Given the description of an element on the screen output the (x, y) to click on. 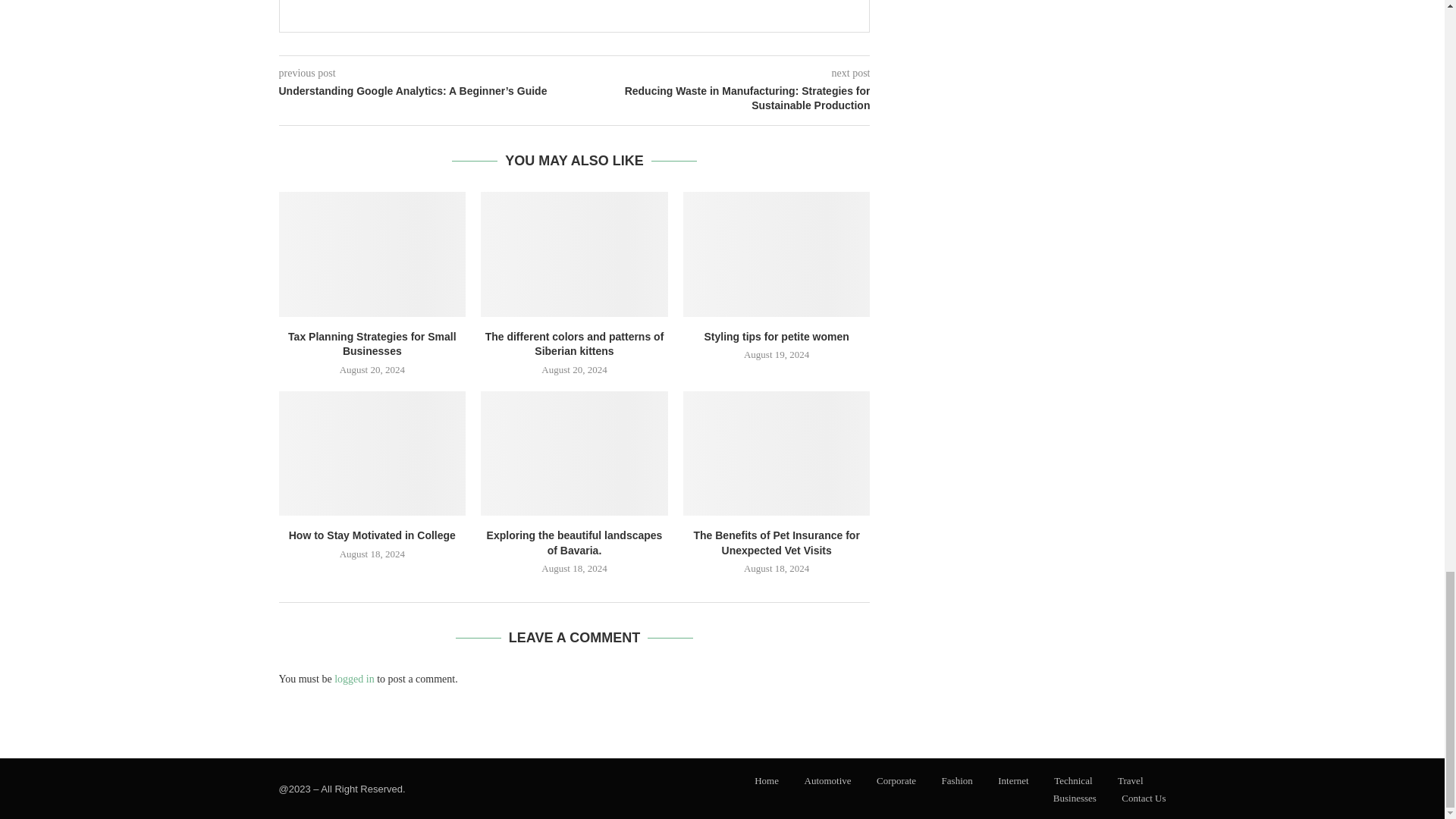
Exploring the beautiful landscapes of Bavaria. (574, 453)
Tax Planning Strategies for Small Businesses (372, 253)
The Benefits of Pet Insurance for Unexpected Vet Visits (776, 453)
How to Stay Motivated in College (372, 453)
Styling tips for petite women (776, 253)
The different colors and patterns of Siberian kittens (574, 253)
